Given the description of an element on the screen output the (x, y) to click on. 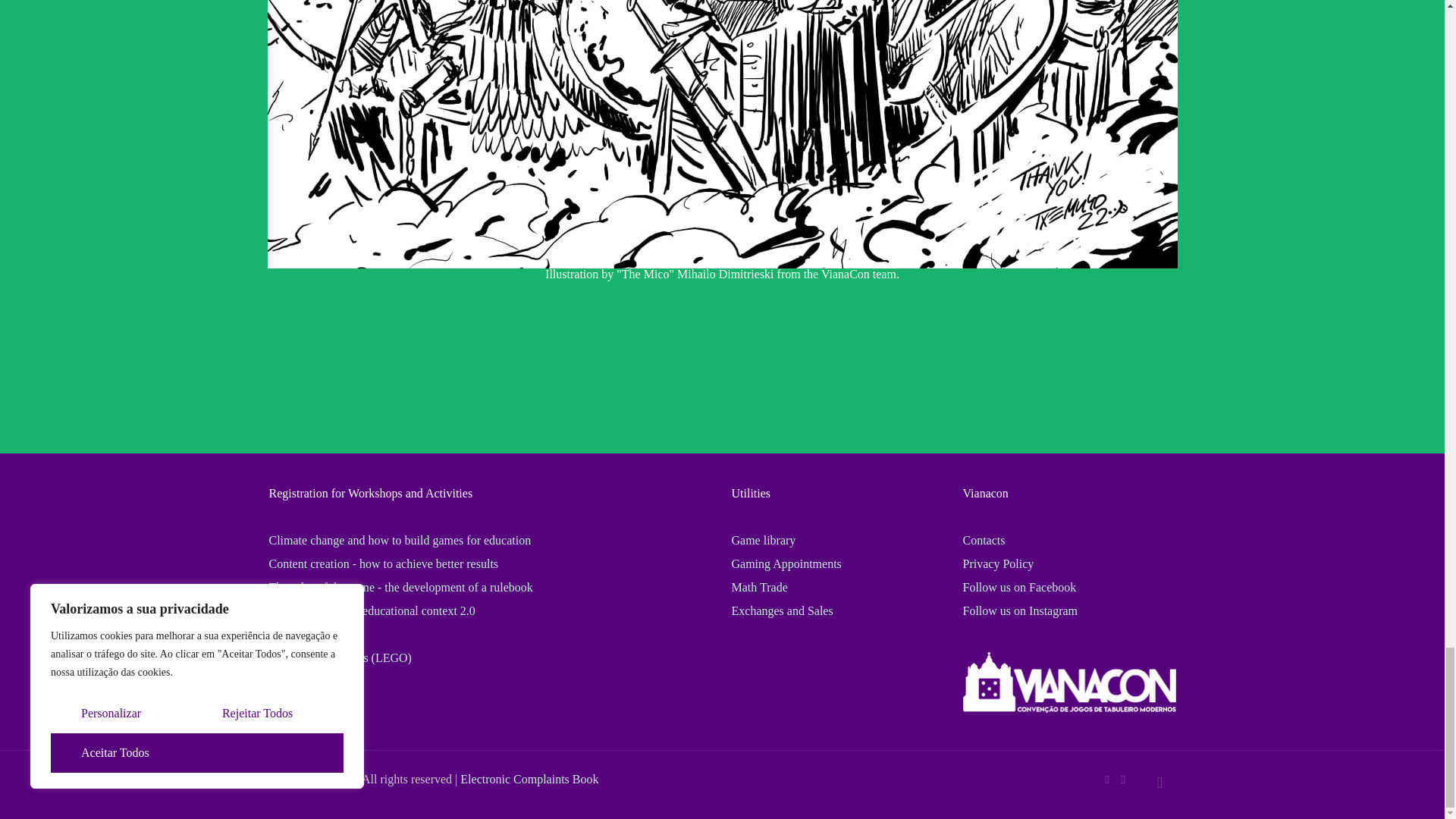
Climate change and how to build games for education (399, 540)
Facebook (1106, 779)
Instagram (1123, 779)
Content creation - how to achieve better results (382, 563)
The rules of the game - the development of a rulebook (399, 586)
